Given the description of an element on the screen output the (x, y) to click on. 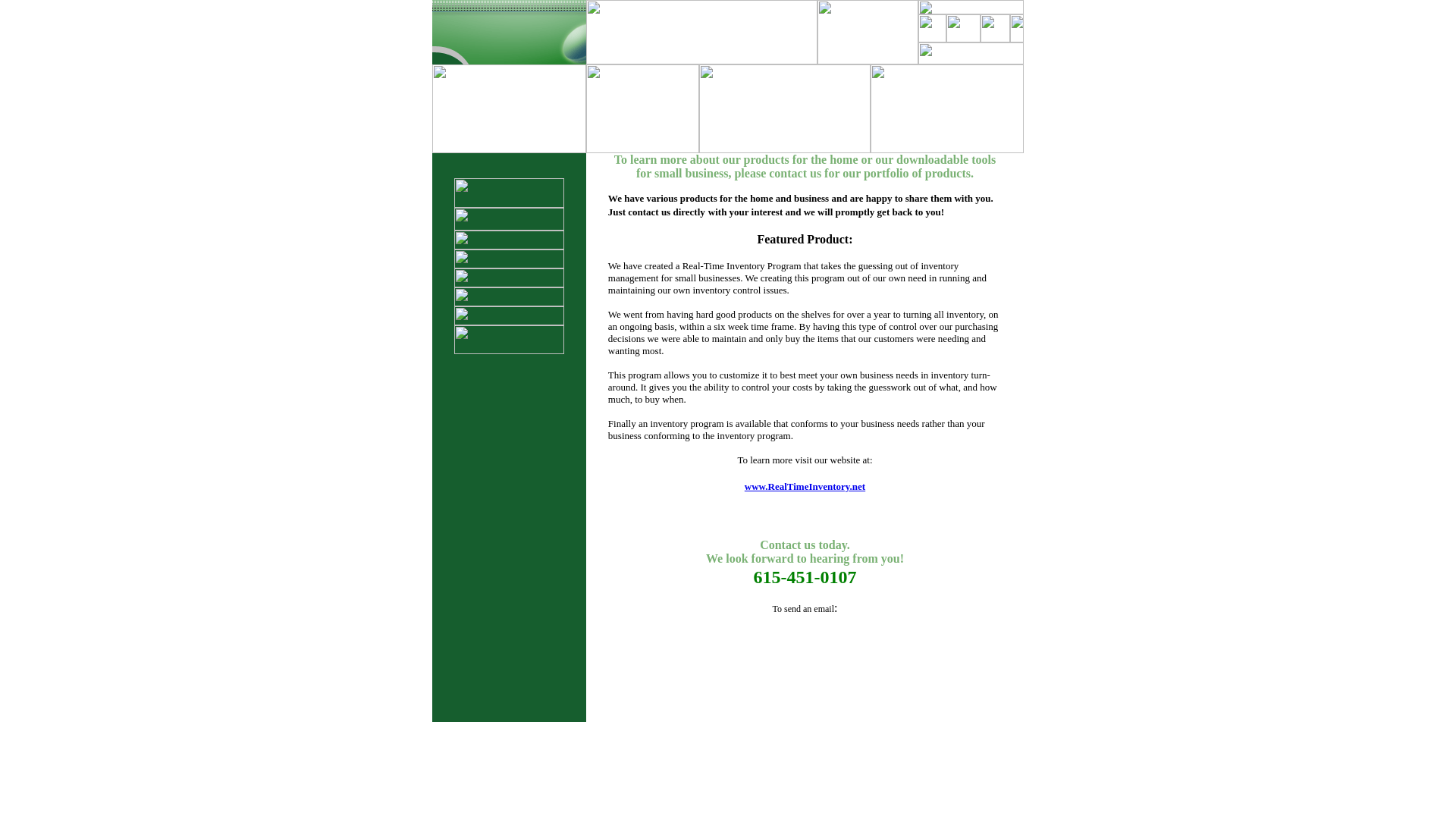
www.RealTimeInventory.net (804, 486)
